Given the description of an element on the screen output the (x, y) to click on. 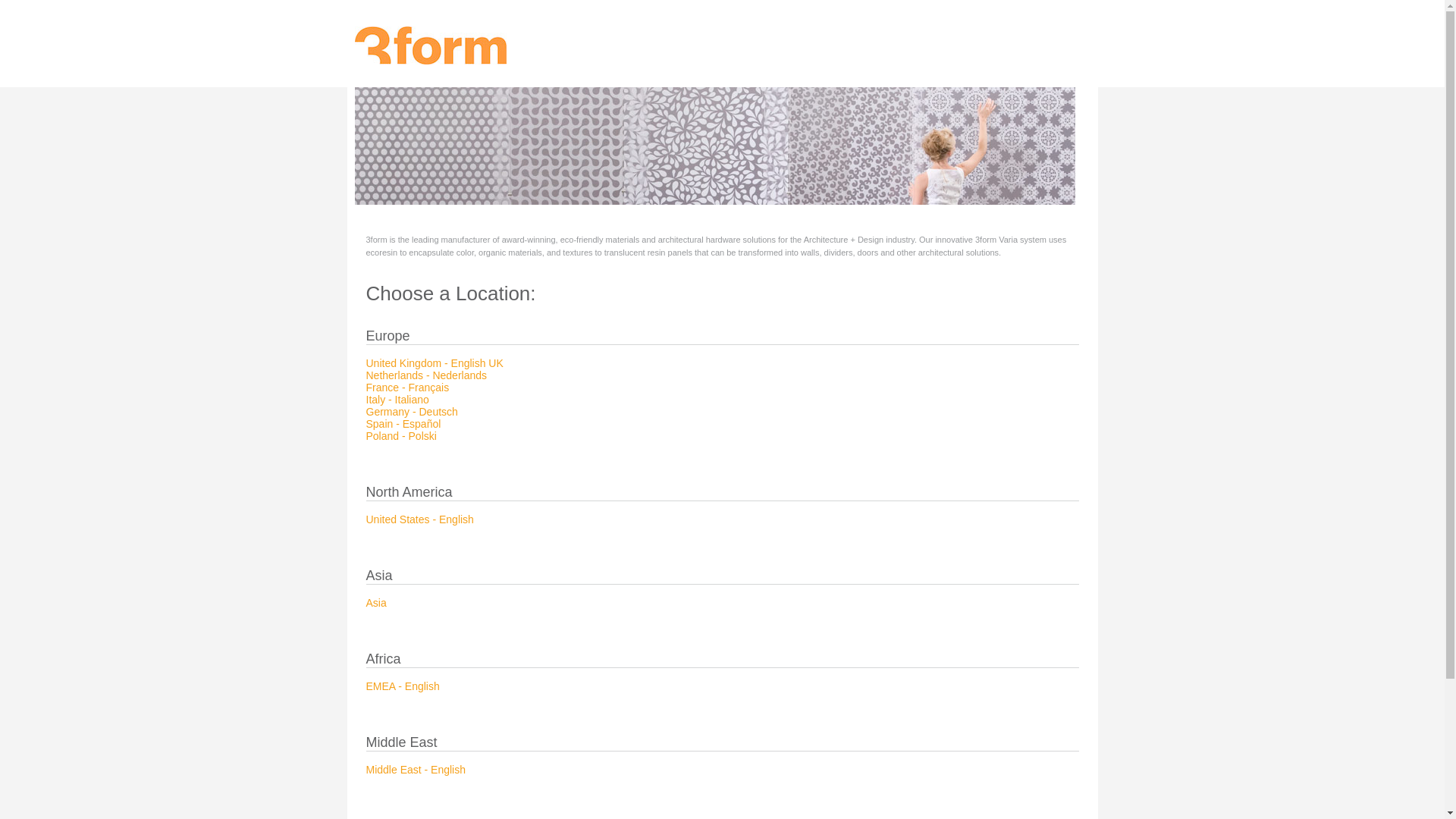
United States - English Element type: text (419, 519)
Italy - Italiano Element type: text (396, 399)
Germany - Deutsch Element type: text (411, 411)
United Kingdom - English UK Element type: text (433, 363)
Middle East - English Element type: text (415, 769)
Poland - Polski Element type: text (400, 435)
Asia Element type: text (375, 602)
Netherlands - Nederlands Element type: text (425, 375)
EMEA - English Element type: text (402, 686)
